Given the description of an element on the screen output the (x, y) to click on. 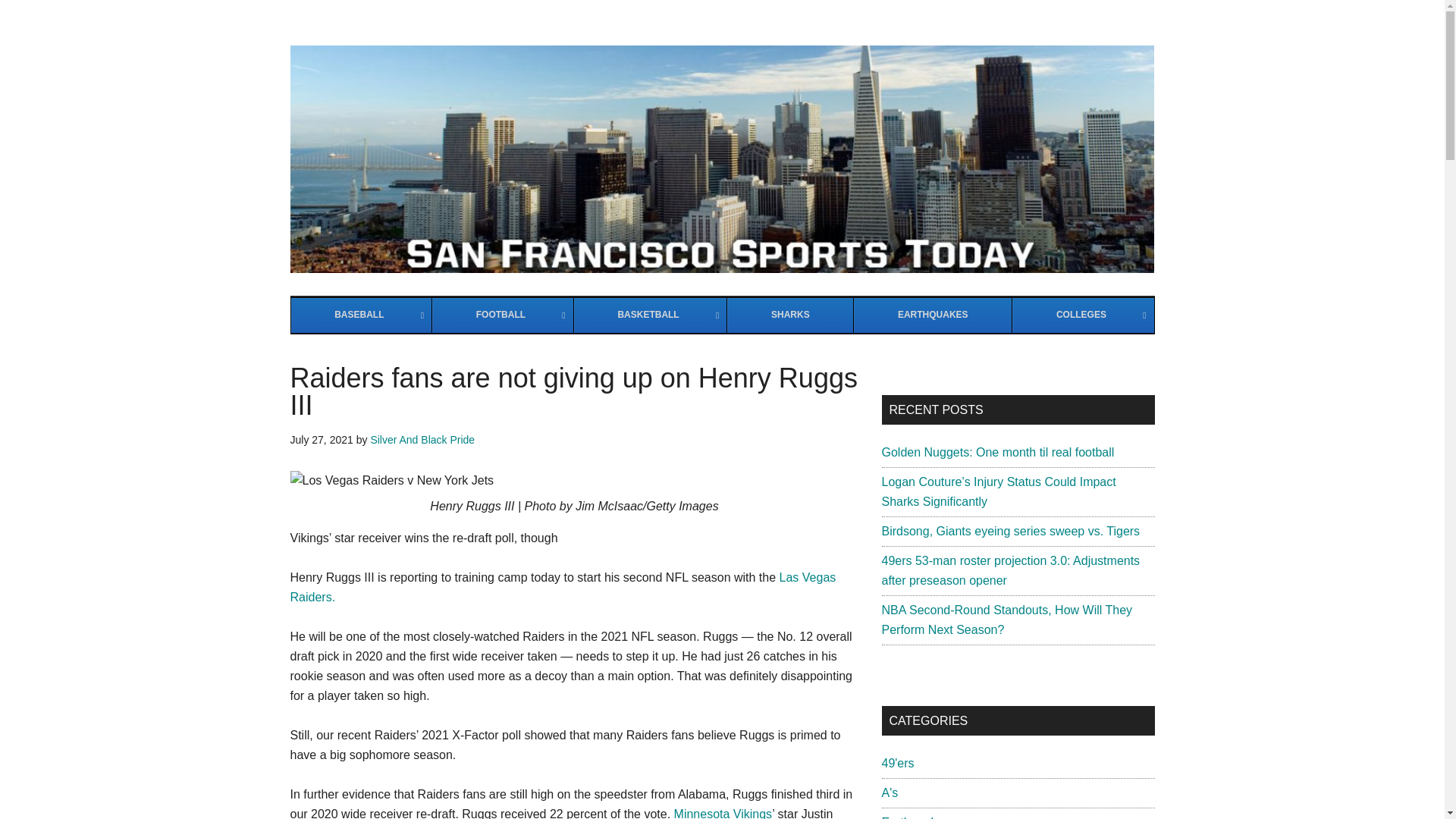
SHARKS (789, 315)
Silver And Black Pride (421, 439)
BASEBALL (361, 315)
BASKETBALL (649, 315)
EARTHQUAKES (932, 315)
Earthquakes (914, 817)
COLLEGES (1082, 315)
FOOTBALL (501, 315)
